Given the description of an element on the screen output the (x, y) to click on. 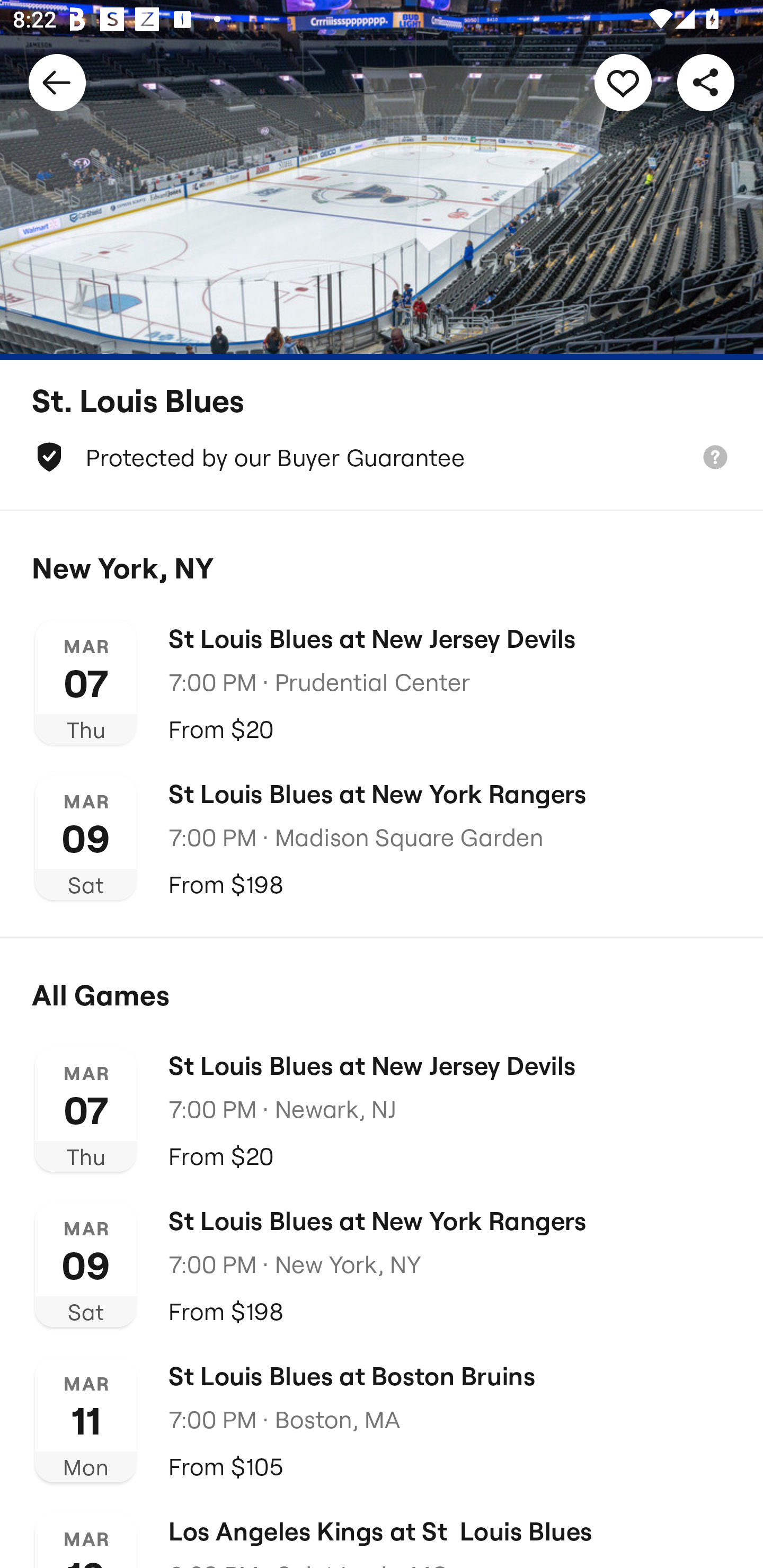
Back (57, 81)
Track this performer (623, 81)
Share this performer (705, 81)
Protected by our Buyer Guarantee Learn more (381, 456)
